Given the description of an element on the screen output the (x, y) to click on. 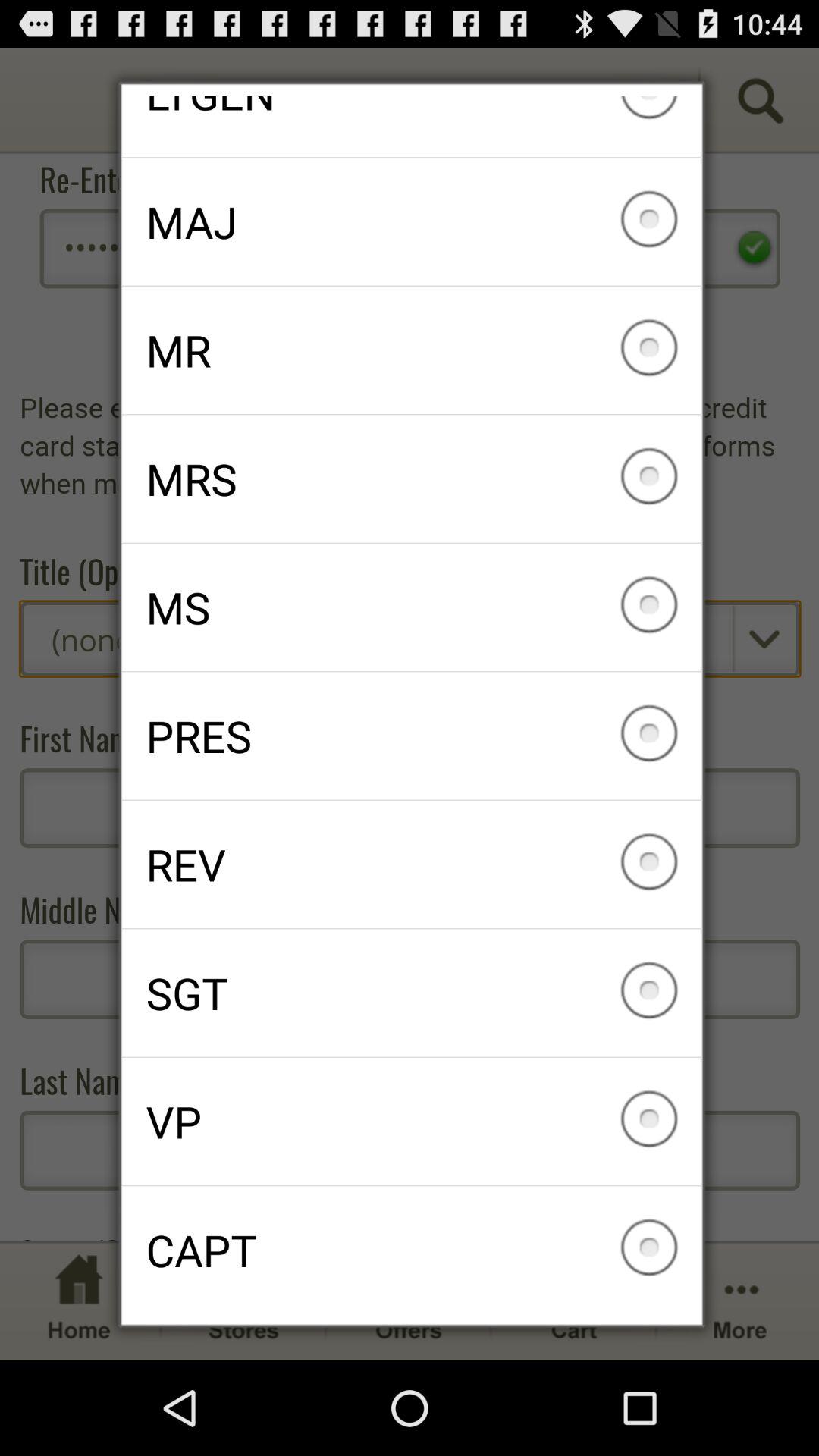
click the ltgen item (411, 126)
